Given the description of an element on the screen output the (x, y) to click on. 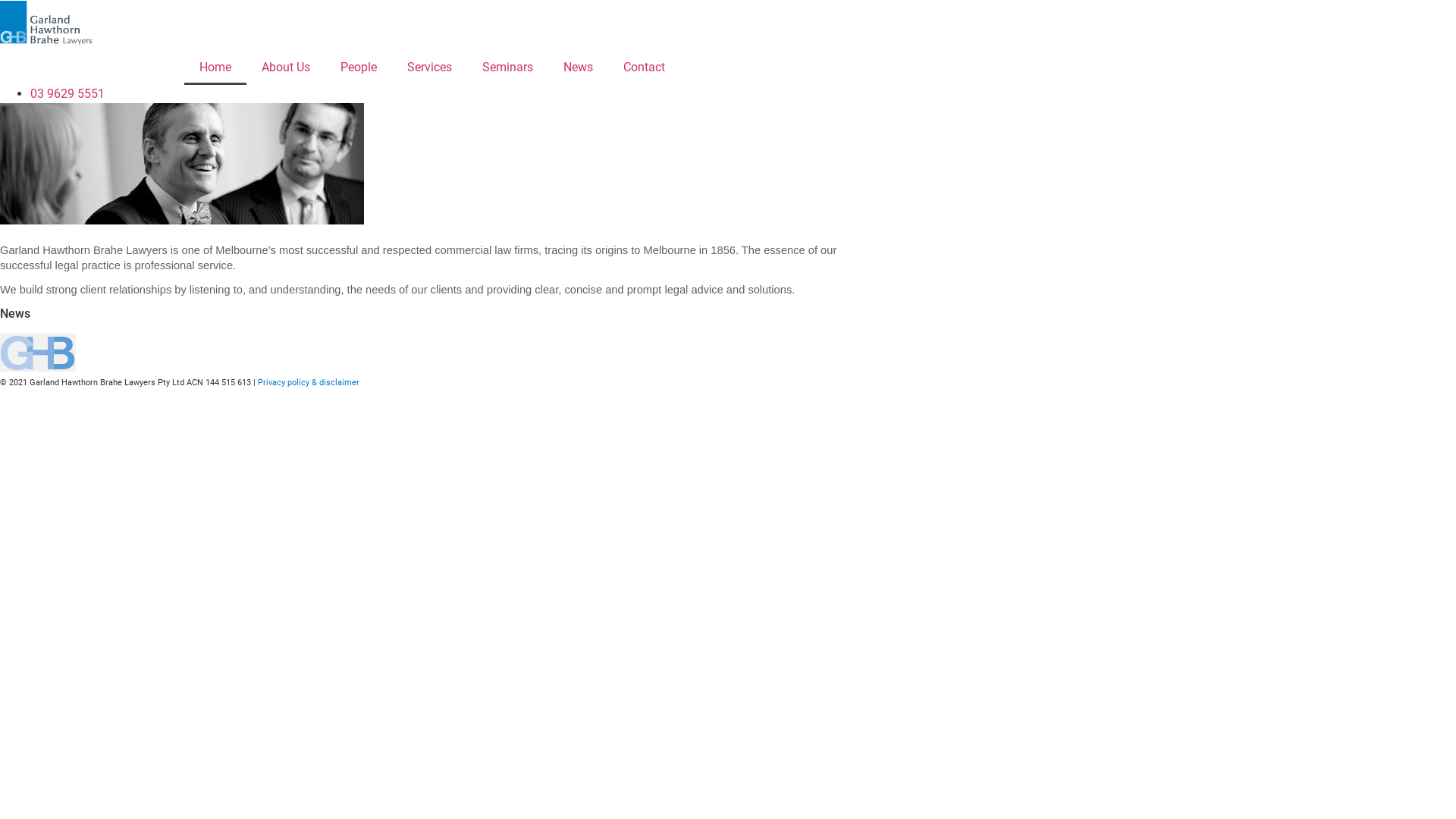
Services Element type: text (429, 67)
People Element type: text (358, 67)
03 9629 5551 Element type: text (67, 93)
Seminars Element type: text (507, 67)
Home Element type: text (215, 67)
About Us Element type: text (285, 67)
Contact Element type: text (644, 67)
News Element type: text (578, 67)
Privacy policy & disclaimer Element type: text (308, 382)
